Given the description of an element on the screen output the (x, y) to click on. 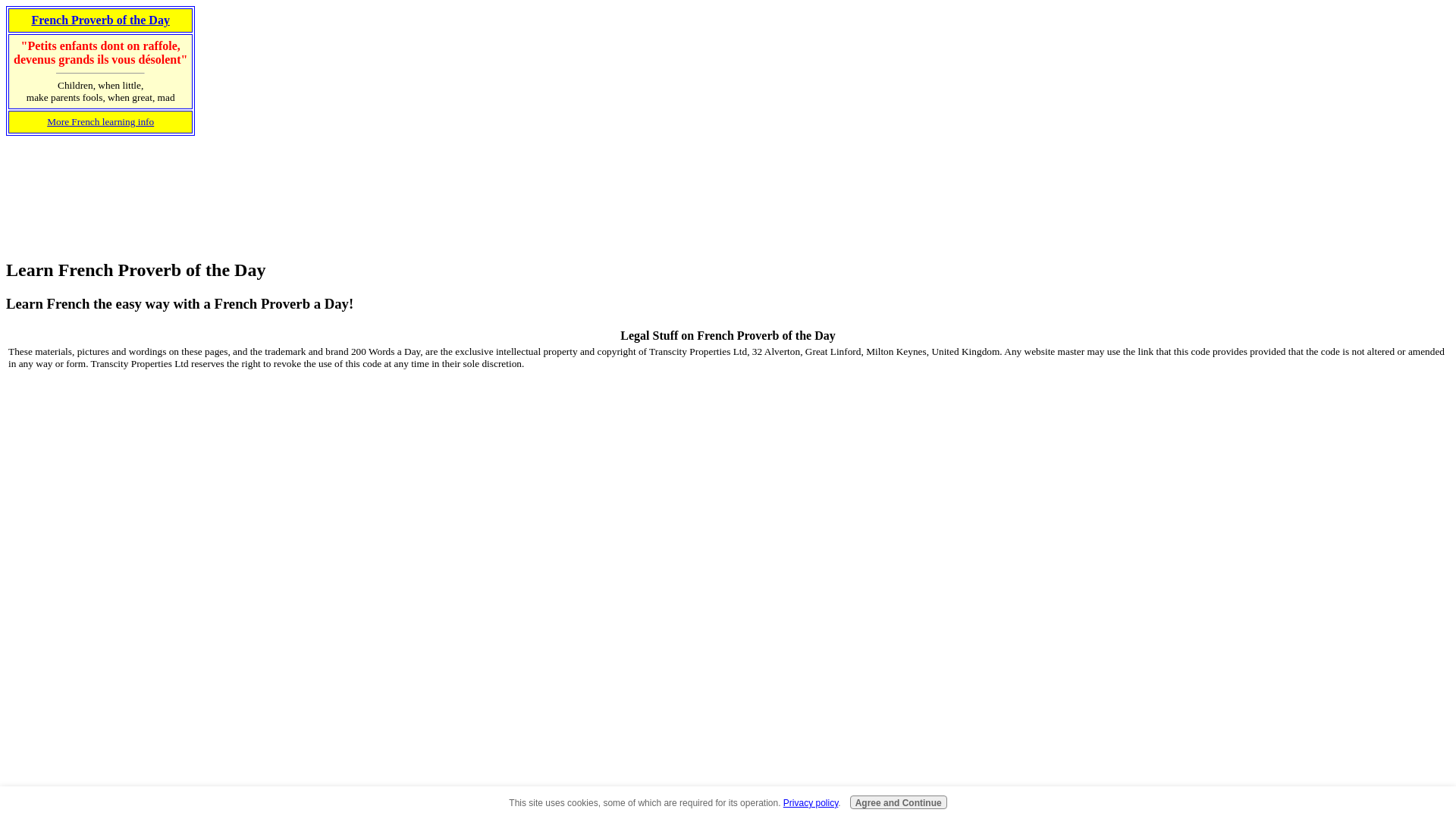
Privacy policy Element type: text (810, 802)
French Proverb of the Day Element type: text (100, 19)
More French learning info Element type: text (100, 121)
Agree and Continue Element type: text (898, 802)
